Given the description of an element on the screen output the (x, y) to click on. 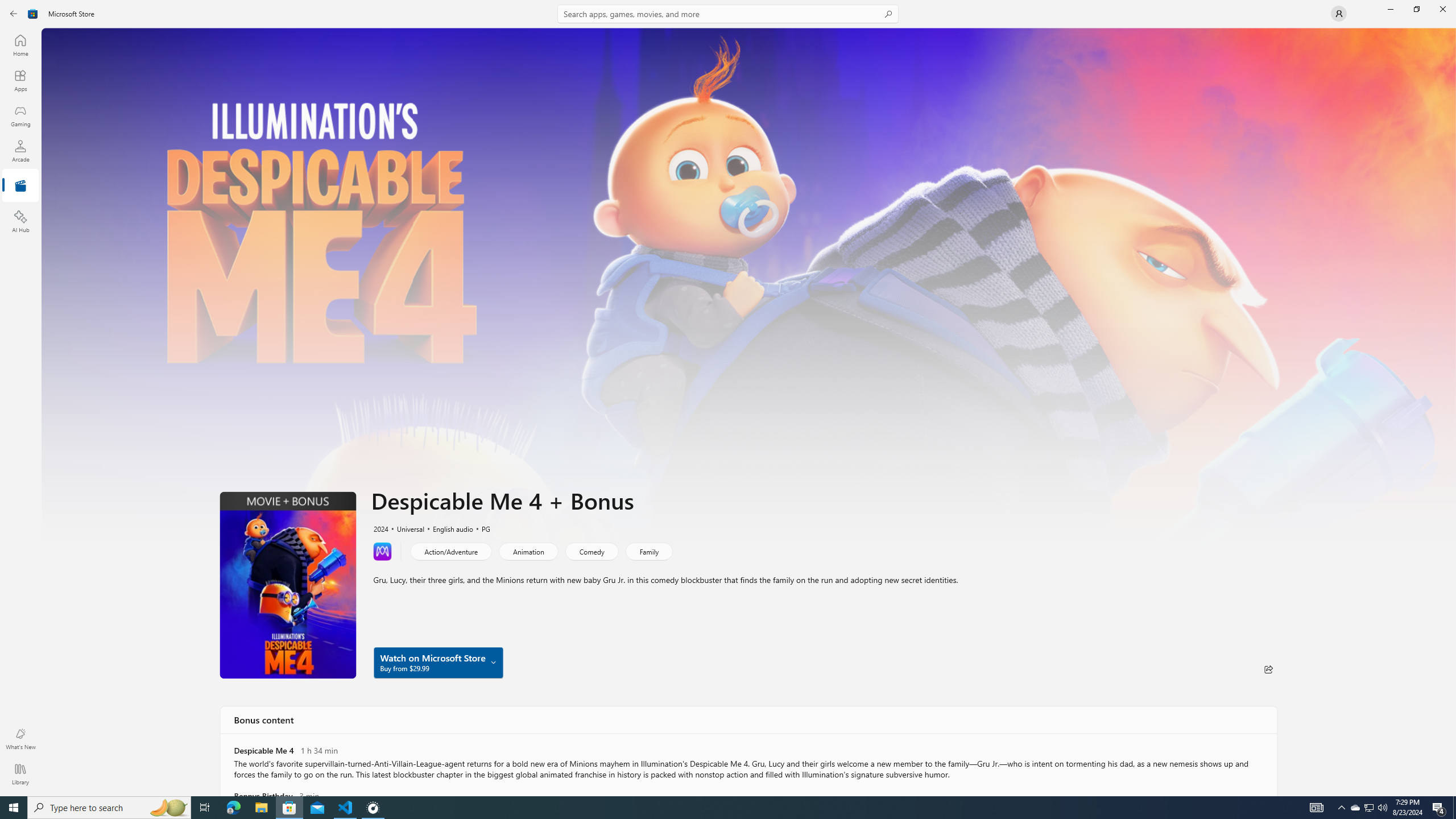
Apps (20, 80)
Universal (405, 528)
PG (481, 528)
Comedy (590, 551)
Gaming (20, 115)
User profile (1338, 13)
English audio (447, 528)
Back (13, 13)
Arcade (20, 150)
Action/Adventure (451, 551)
Animation (528, 551)
2024 (379, 528)
Minimize Microsoft Store (1390, 9)
What's New (20, 738)
